Given the description of an element on the screen output the (x, y) to click on. 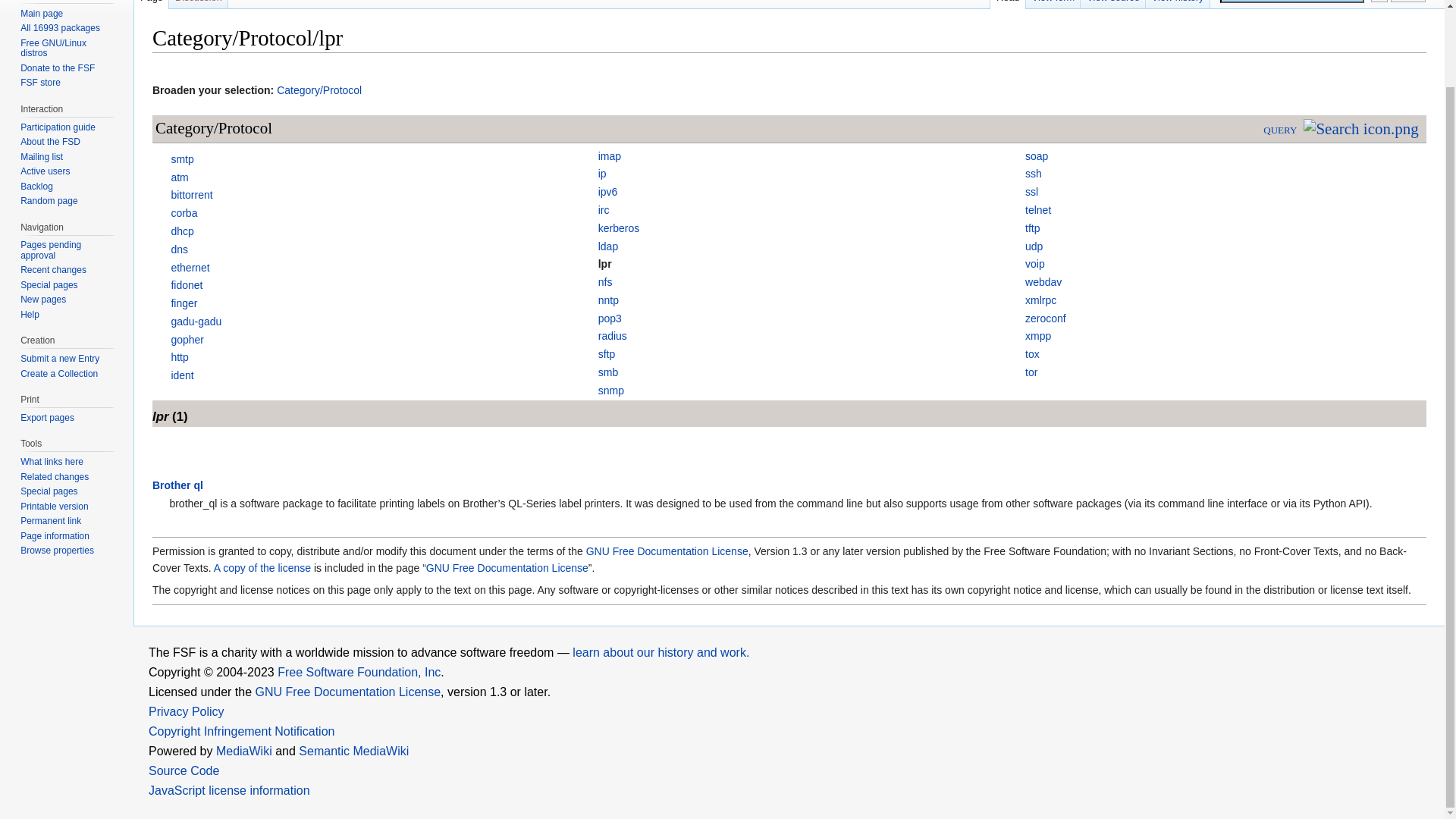
Go (1379, 1)
lpr (604, 263)
atm (178, 177)
dhcp (181, 231)
nntp (608, 300)
corba (183, 213)
gadu-gadu (195, 321)
kerberos (618, 227)
ident (181, 375)
Search (1407, 1)
